Given the description of an element on the screen output the (x, y) to click on. 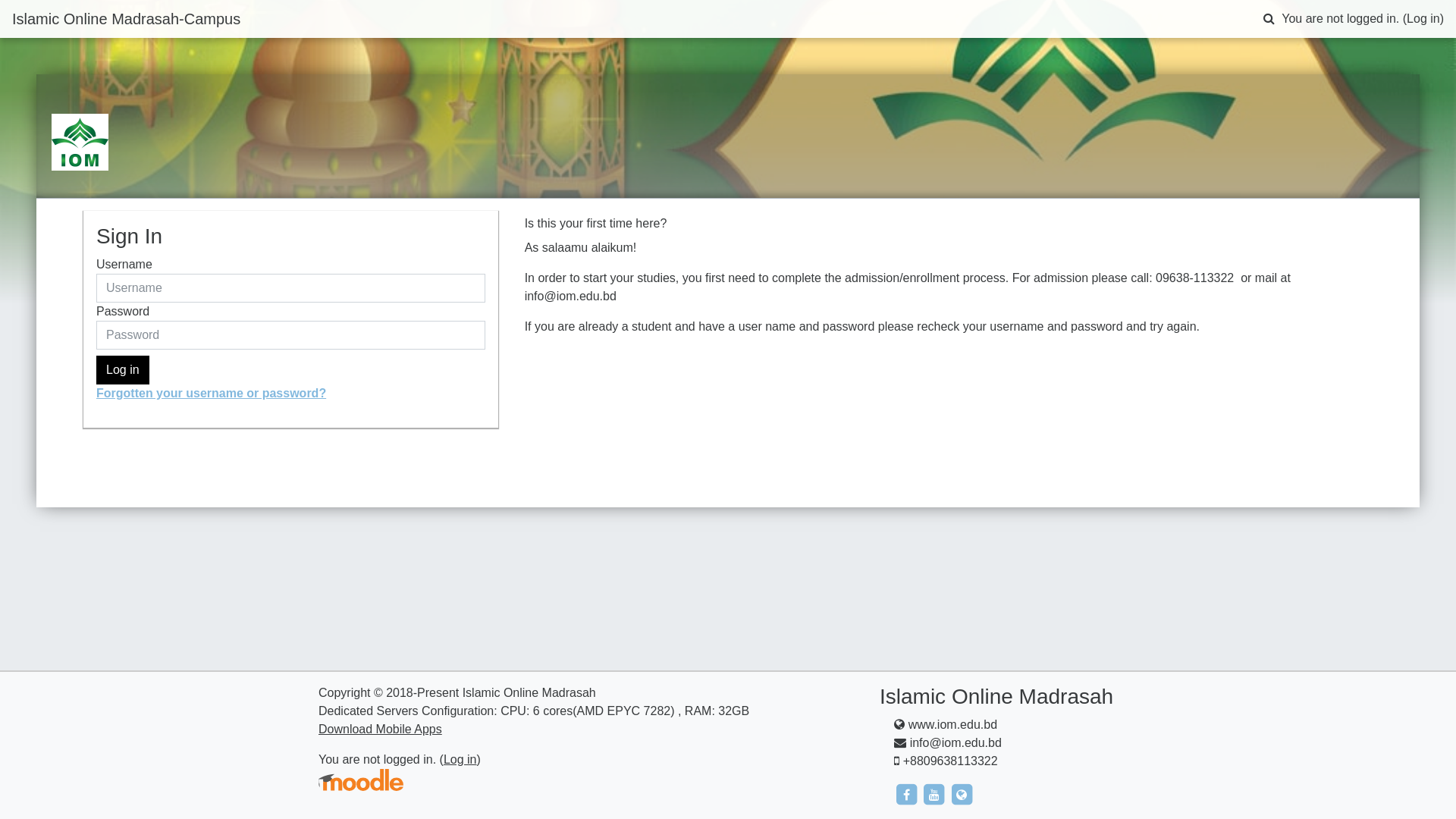
https://youtube.com/c/IOMEDUorg Element type: text (935, 793)
Forgotten your username or password? Element type: text (211, 392)
Log in Element type: text (122, 369)
Log in Element type: text (1423, 18)
http://iom.edu.bd Element type: text (961, 793)
Islamic Online Madrasah-Campus Element type: text (126, 18)
https://facebook.com/iomedu.org/ Element type: text (907, 793)
Log in Element type: text (459, 759)
Moodle Element type: hover (360, 779)
IOM Online Campus Element type: text (79, 141)
[[togglesearch]] Element type: text (1268, 18)
Download Mobile Apps Element type: text (380, 728)
